Given the description of an element on the screen output the (x, y) to click on. 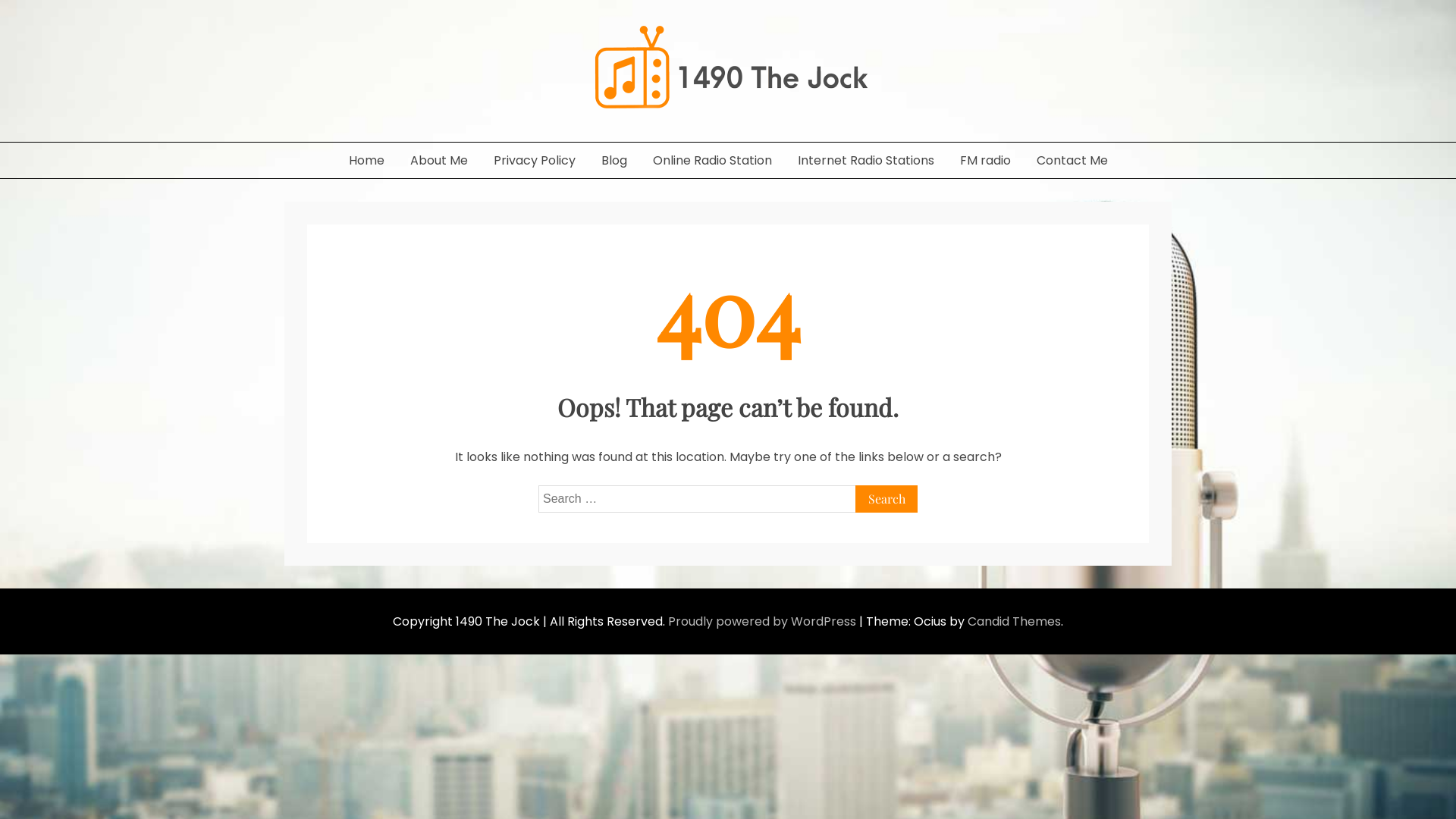
Internet Radio Stations Element type: text (864, 160)
Blog Element type: text (613, 160)
Candid Themes Element type: text (1013, 621)
FM radio Element type: text (984, 160)
About Me Element type: text (438, 160)
Online Radio Station Element type: text (712, 160)
Privacy Policy Element type: text (534, 160)
Search Element type: text (886, 498)
1490 The Jock Element type: text (366, 134)
Home Element type: text (365, 160)
Contact Me Element type: text (1072, 160)
Proudly powered by WordPress Element type: text (763, 621)
